Given the description of an element on the screen output the (x, y) to click on. 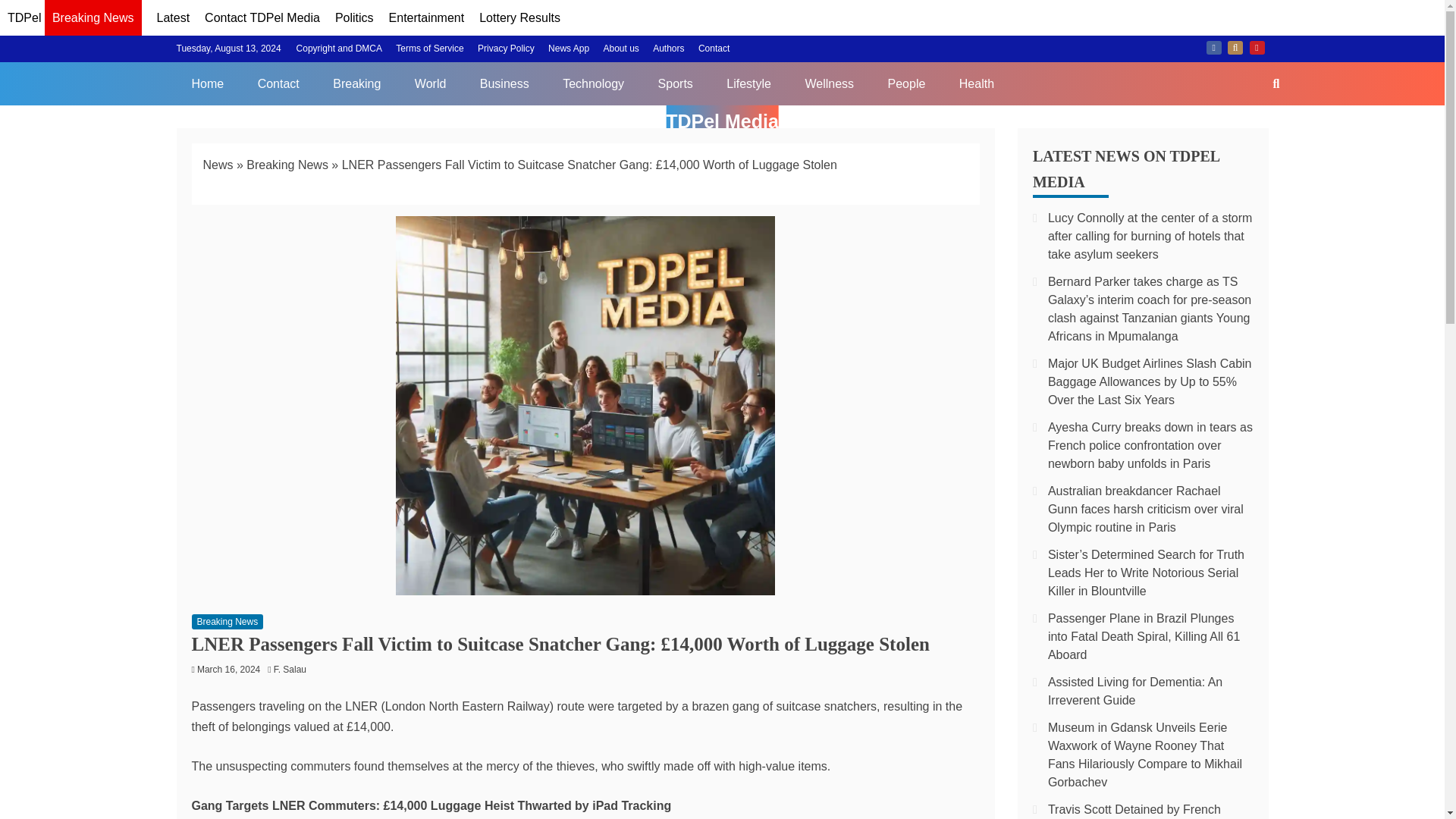
Home (207, 83)
F. Salau (293, 669)
Health (976, 83)
Facebook (1214, 47)
News App (568, 48)
World (429, 83)
News (217, 164)
Copyright and DMCA (339, 48)
Wellness (829, 83)
Pinterest (1257, 47)
